Given the description of an element on the screen output the (x, y) to click on. 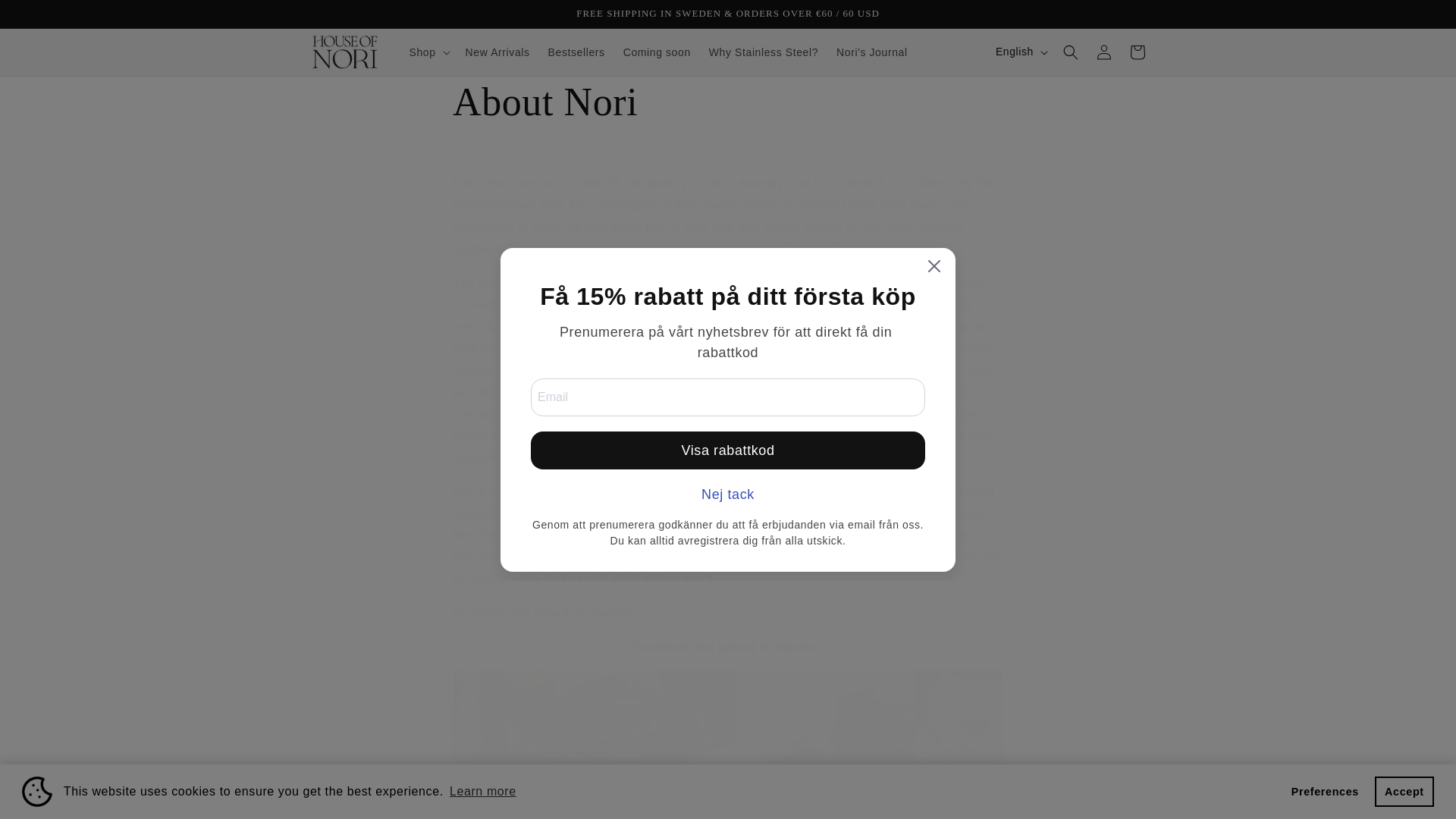
New Arrivals (497, 51)
Skip to content (45, 17)
Learn more (482, 791)
Preferences (1324, 791)
About Nori (727, 101)
Bestsellers (576, 51)
Accept (1404, 791)
Coming soon (657, 51)
Why Stainless Steel? (763, 51)
